Given the description of an element on the screen output the (x, y) to click on. 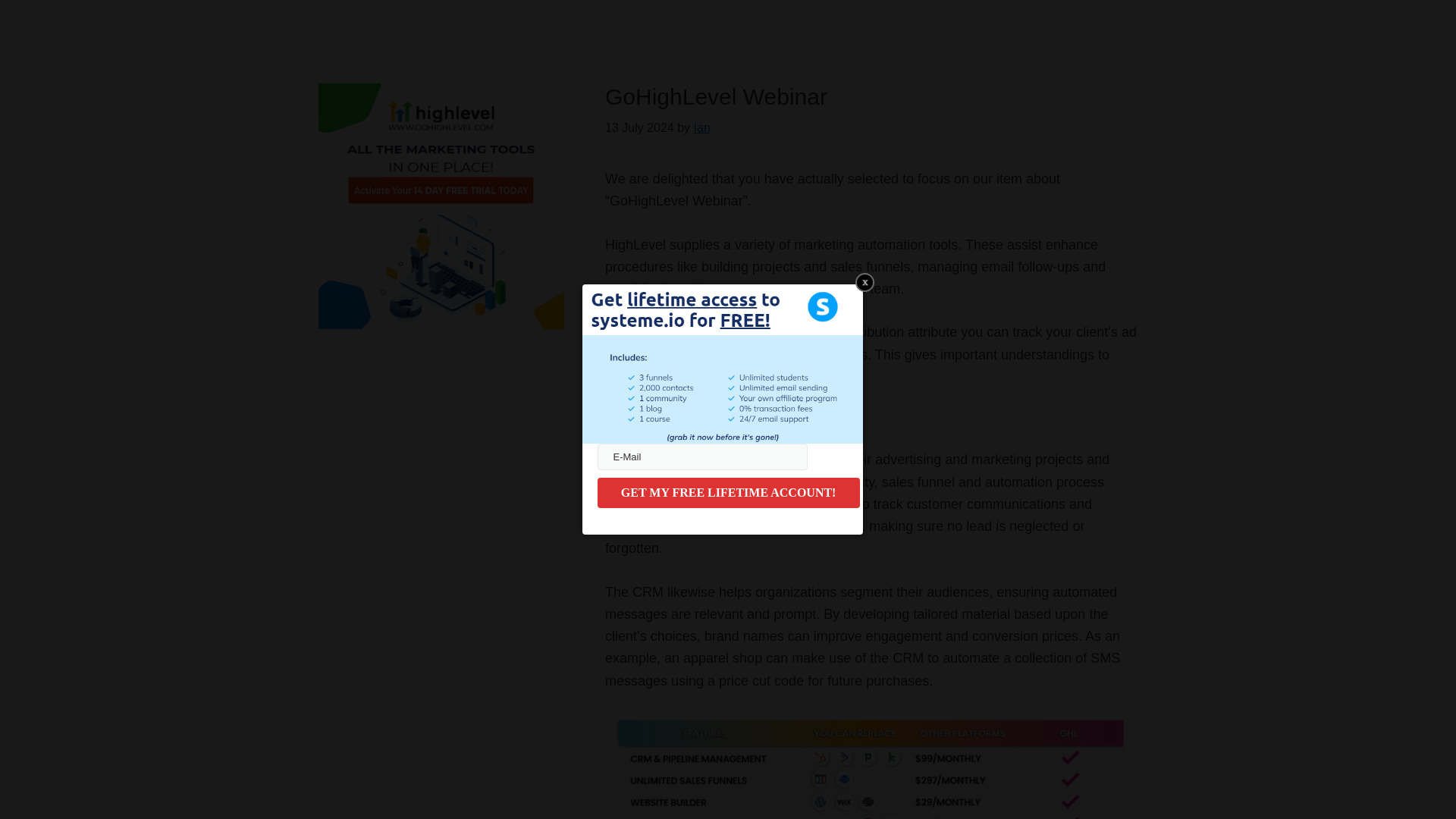
GET MY FREE LIFETIME ACCOUNT! (728, 492)
Ian (702, 127)
GET MY FREE LIFETIME ACCOUNT! (728, 492)
